Given the description of an element on the screen output the (x, y) to click on. 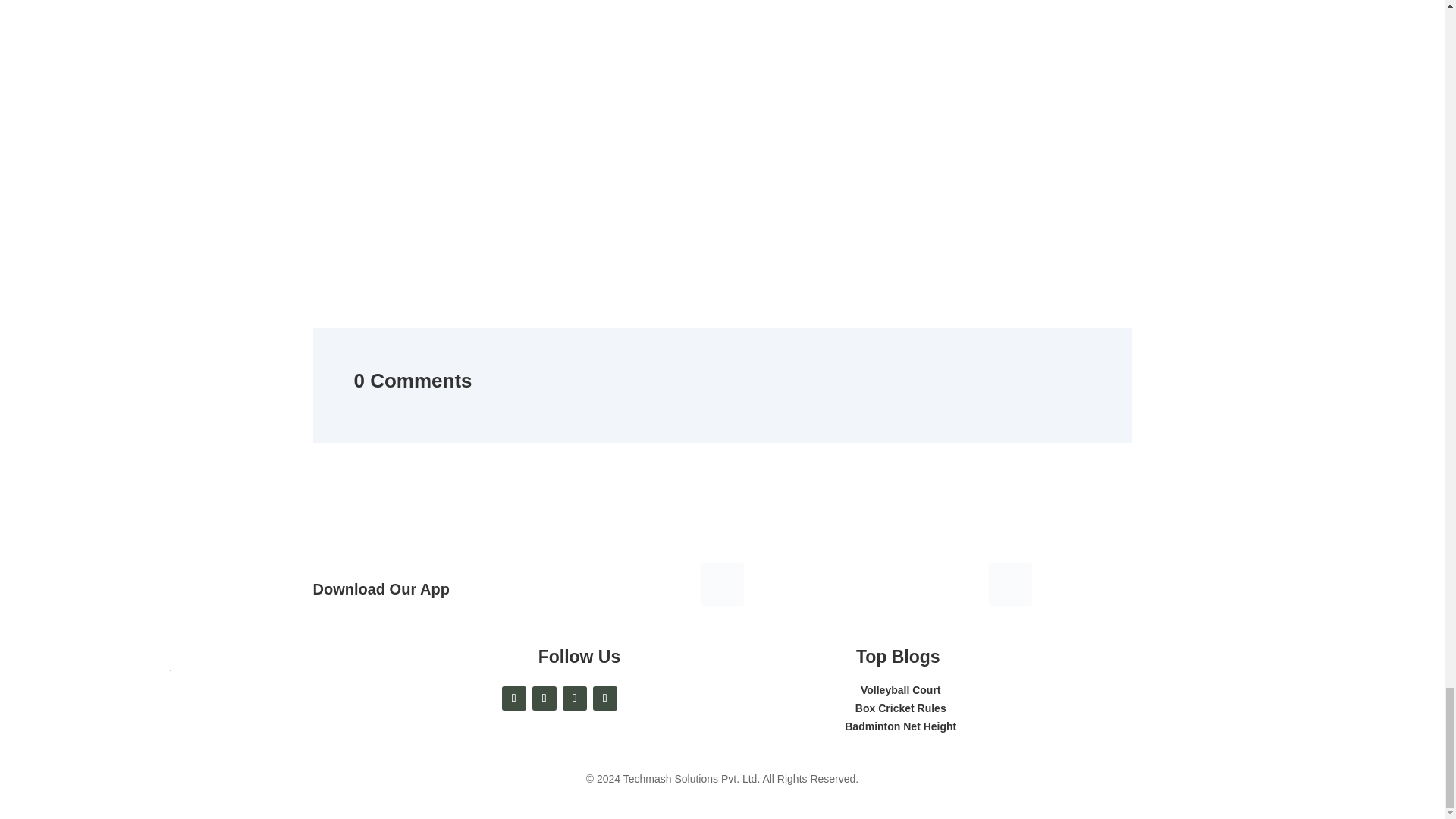
Follow on LinkedIn (574, 698)
apple store icon (1012, 586)
Play Store icon (724, 586)
Volleyball Court (900, 689)
Follow on X (544, 698)
Badminton Net Height (900, 726)
Box Cricket Rules (901, 707)
Follow on Instagram (604, 698)
Follow on Facebook (513, 698)
